Given the description of an element on the screen output the (x, y) to click on. 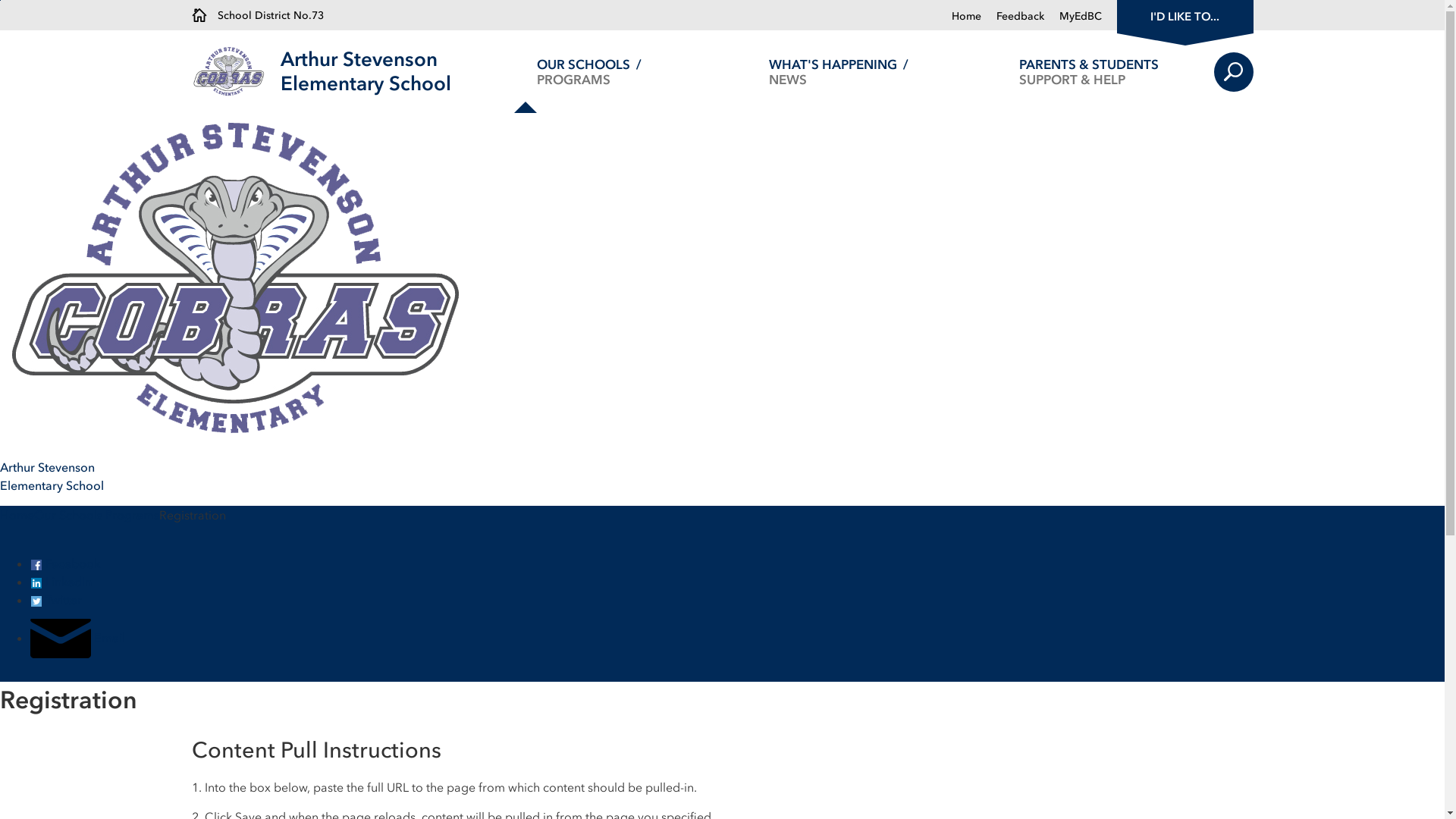
Arthur Stevenson
Elementary School Element type: text (722, 382)
Email Element type: text (77, 637)
  Element type: text (1, 532)
I'D LIKE TO... Element type: text (1184, 15)
LinkedIn Element type: text (60, 581)
Arthur Stevenson
Elementary School Element type: text (365, 71)
Our Schools Programs Element type: text (96, 514)
Click to return to the homepage Element type: hover (235, 71)
PARENTS & STUDENTS
SUPPORT & HELP Element type: text (1088, 71)
Home Element type: text (17, 514)
Home Element type: text (965, 15)
Skip to Content Element type: text (0, 0)
WHAT'S HAPPENING
NEWS Element type: text (838, 71)
MyEdBC Element type: text (1072, 15)
Facebook Element type: text (65, 563)
Search Element type: text (1232, 71)
Feedback Element type: text (1012, 15)
School District No.73 Element type: text (257, 15)
OUR SCHOOLS
PROGRAMS Element type: text (588, 71)
Twitter Element type: text (55, 599)
